Given the description of an element on the screen output the (x, y) to click on. 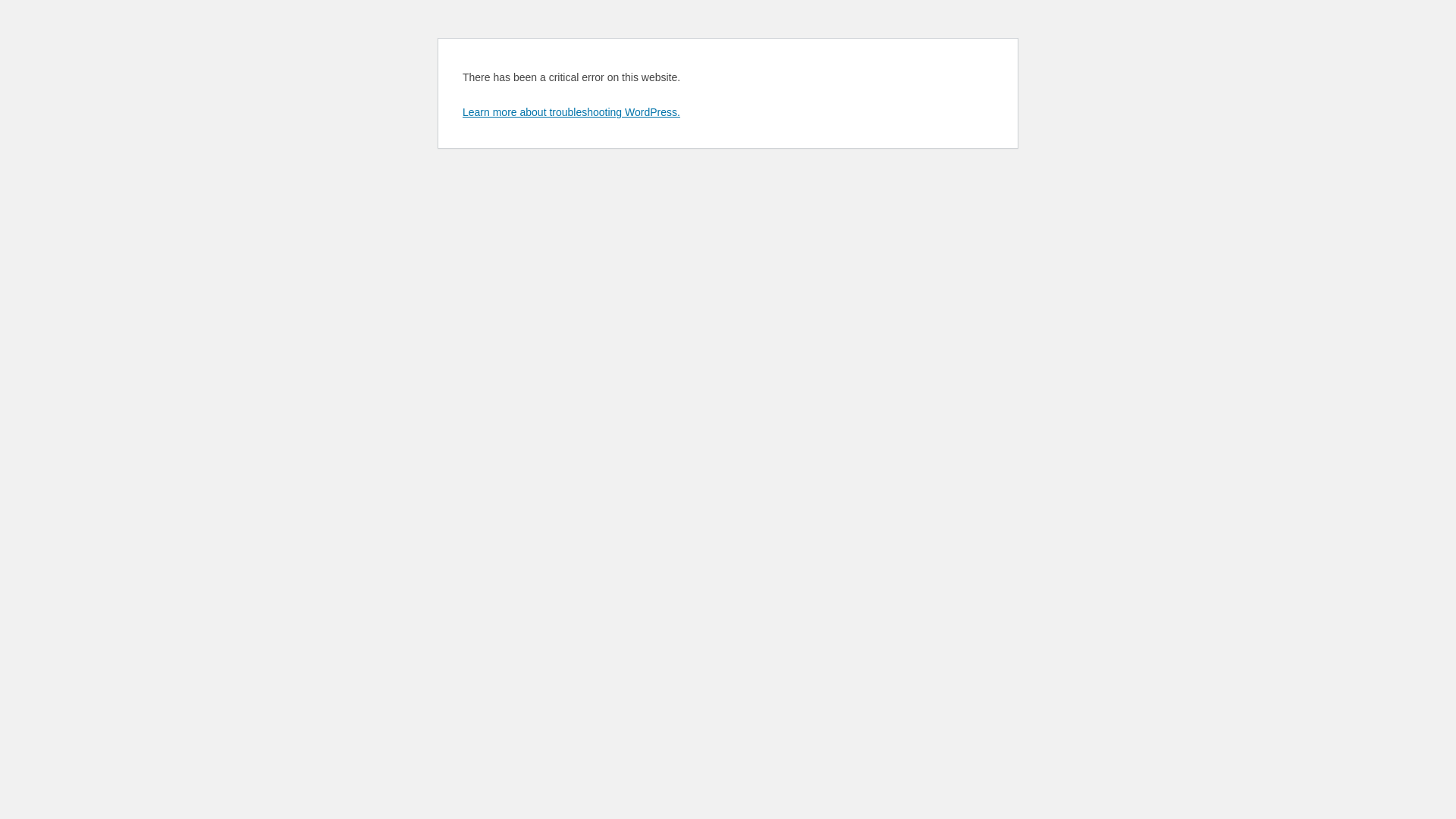
Learn more about troubleshooting WordPress. Element type: text (571, 112)
